Given the description of an element on the screen output the (x, y) to click on. 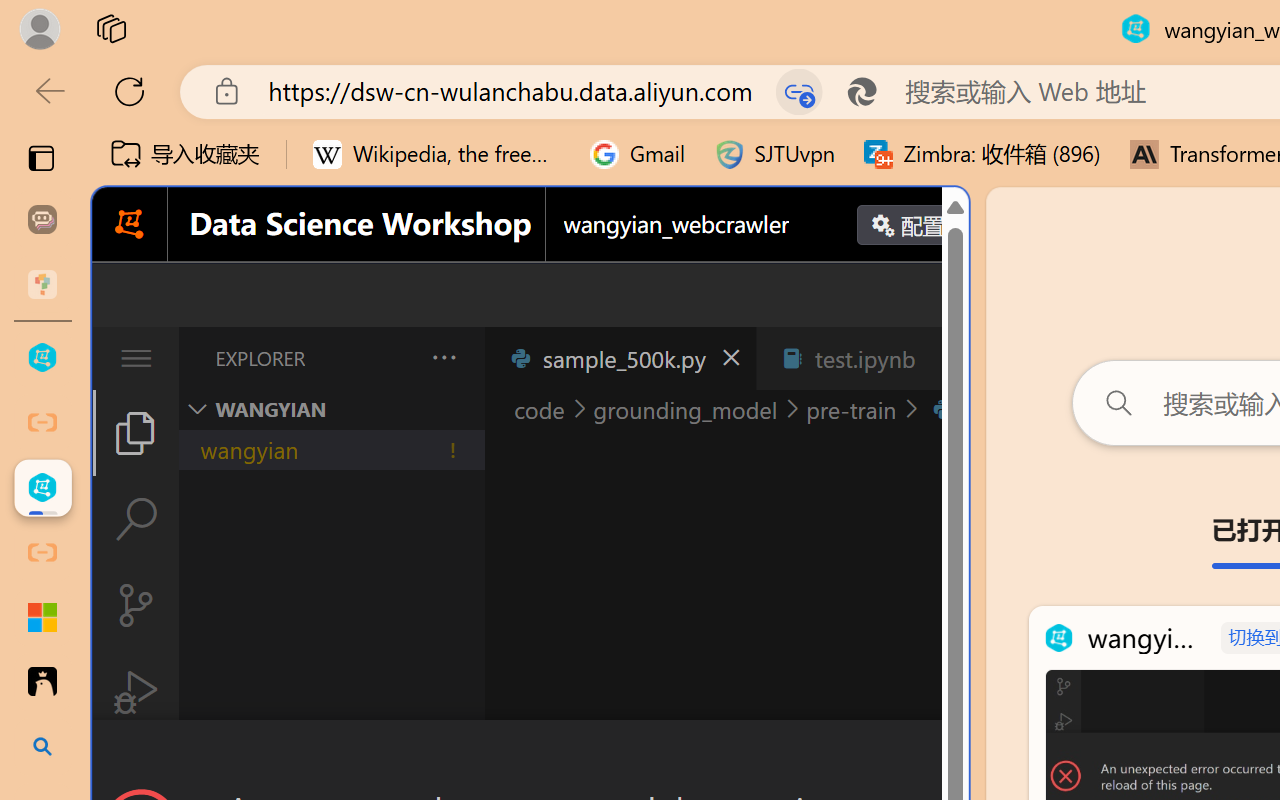
Run and Debug (Ctrl+Shift+D) (135, 692)
Source Control (Ctrl+Shift+G) (135, 604)
Tab actions (945, 358)
sample_500k.py (619, 358)
wangyian_webcrawler - DSW (42, 487)
